Given the description of an element on the screen output the (x, y) to click on. 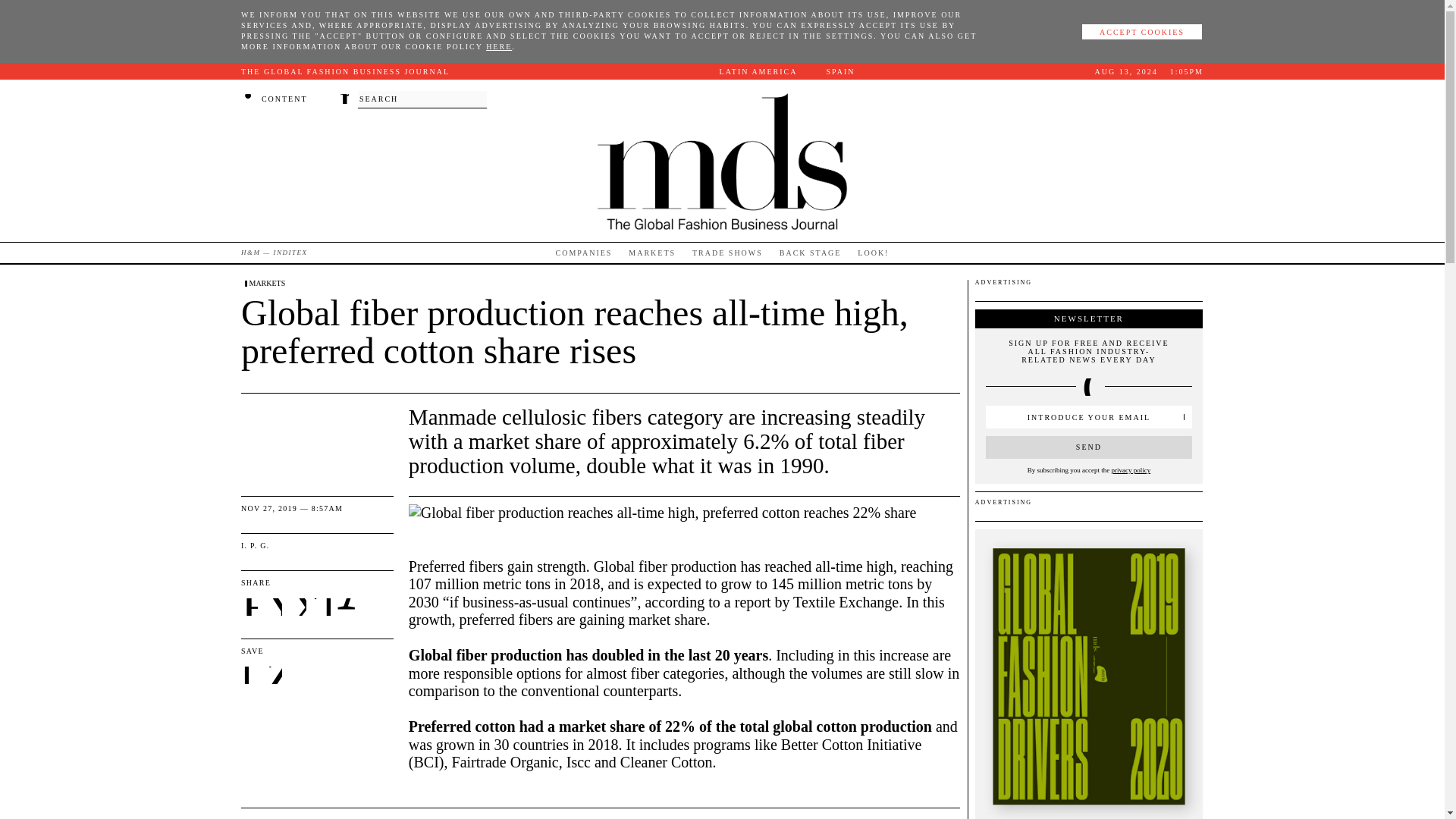
Y (273, 607)
TRADE SHOWS (727, 252)
ACCEPT COOKIES (1141, 31)
privacy policy (1130, 470)
A (346, 606)
Cotton fields.  (663, 513)
INDITEX (290, 252)
BACK STAGE (809, 252)
X (298, 607)
h MARKETS (263, 283)
